Given the description of an element on the screen output the (x, y) to click on. 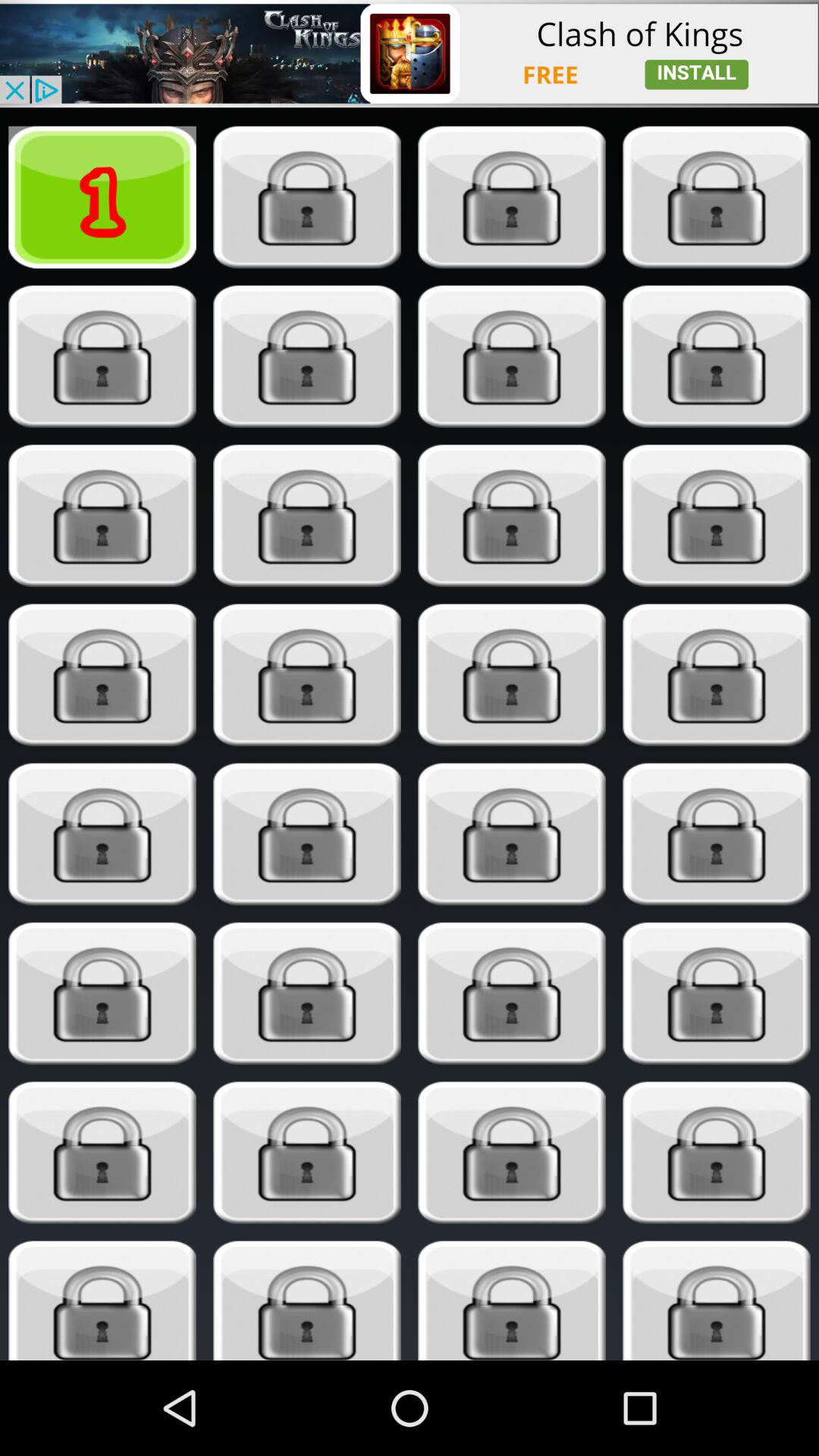
select advertisement (409, 53)
